Given the description of an element on the screen output the (x, y) to click on. 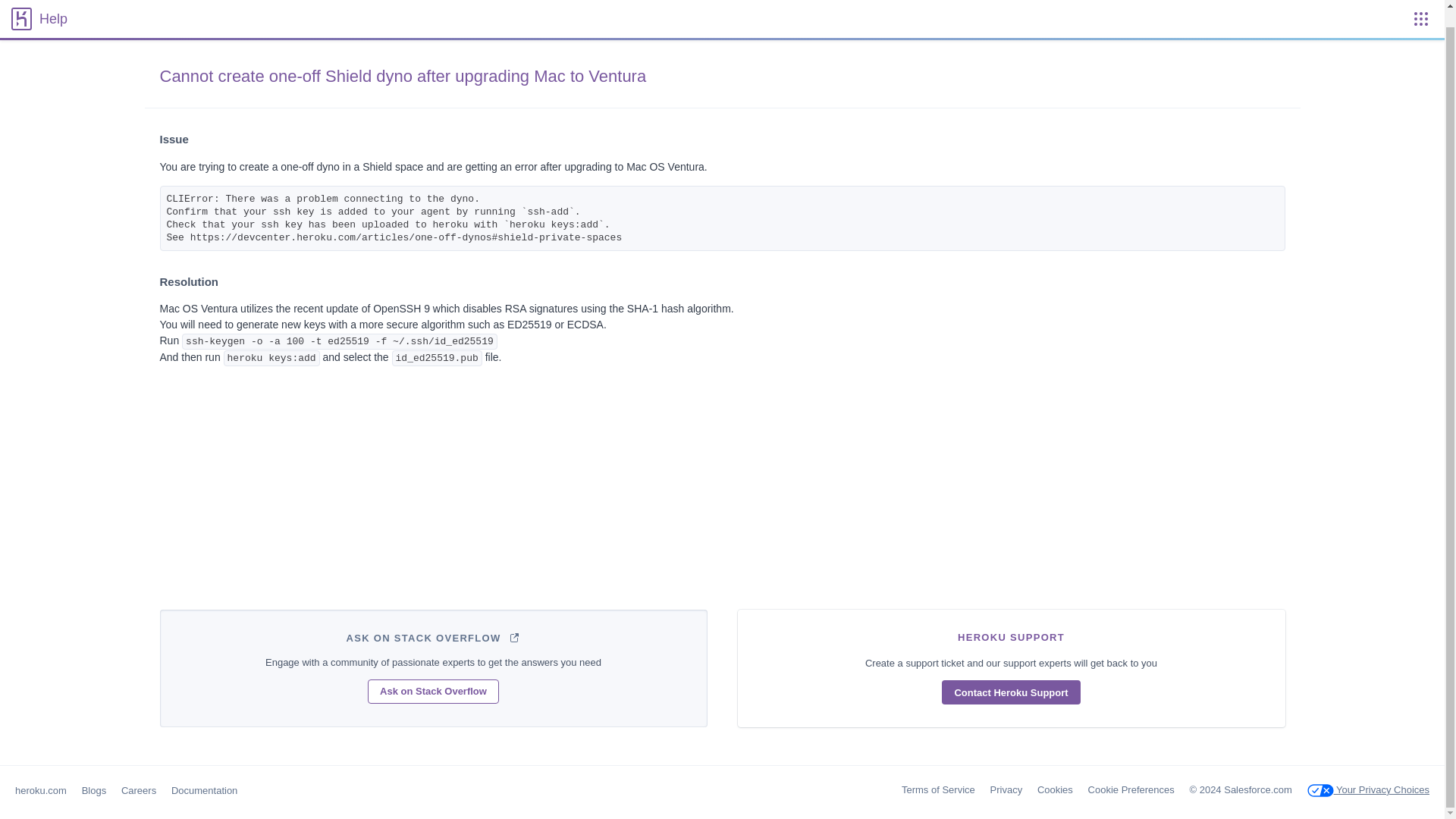
Careers (137, 790)
Ask on Stack Overflow (433, 691)
Cookies (1054, 789)
Blogs (93, 790)
Terms of Service (938, 789)
heroku.com (40, 790)
Privacy (1006, 789)
Contact Heroku Support (1011, 692)
Cookie Preferences (1130, 789)
Documentation (204, 790)
